Given the description of an element on the screen output the (x, y) to click on. 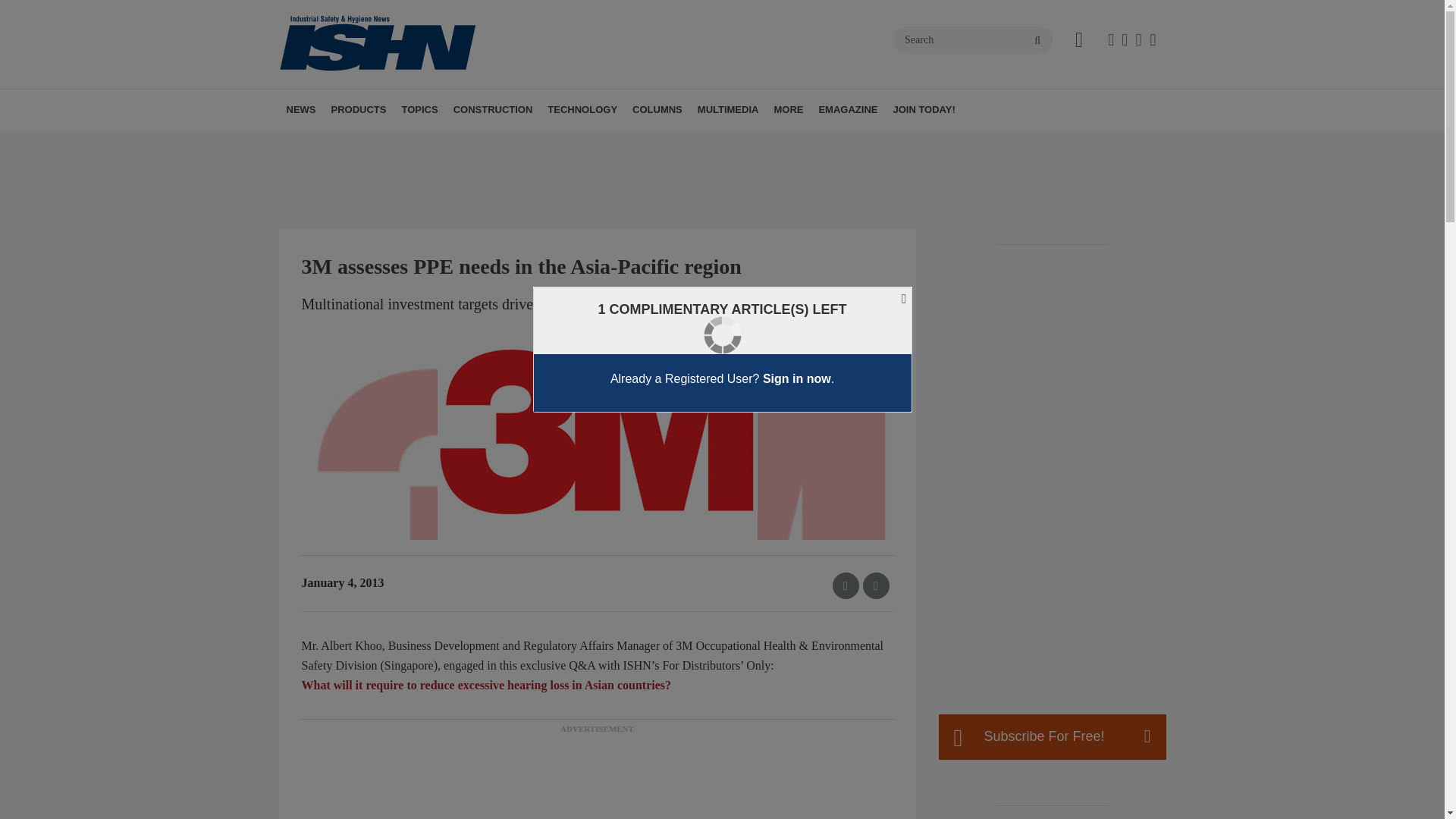
TOPICS (419, 109)
PRODUCT INNOVATIONS (417, 142)
Search (972, 40)
CONSTRUCTION (492, 109)
EDITORIAL COMMENTS (736, 142)
MULTIMEDIA (728, 109)
GOVERNMENT REGULATIONS (504, 142)
GLOBAL SAFETY NEWS (380, 142)
VIDEOS (801, 142)
ISHN PODCAST (784, 142)
